Given the description of an element on the screen output the (x, y) to click on. 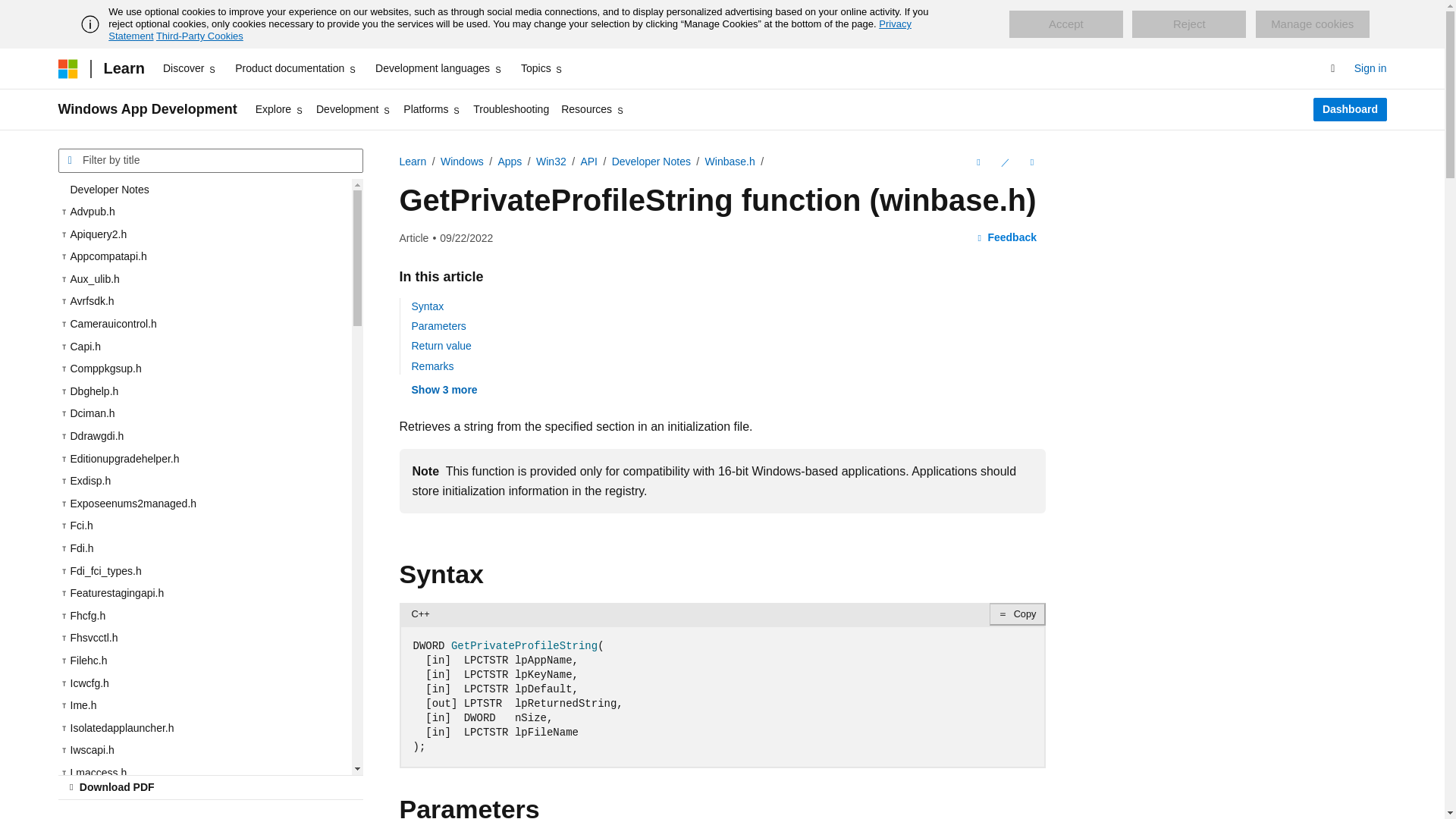
Accept (1065, 23)
Topics (542, 68)
Third-Party Cookies (199, 35)
Product documentation (295, 68)
Learn (123, 68)
Reject (1189, 23)
Platforms (432, 109)
Skip to main content (11, 11)
Windows App Development (146, 109)
Edit This Document (1004, 161)
Explore (279, 109)
Sign in (1370, 68)
Discover (189, 68)
Manage cookies (1312, 23)
Development languages (438, 68)
